Given the description of an element on the screen output the (x, y) to click on. 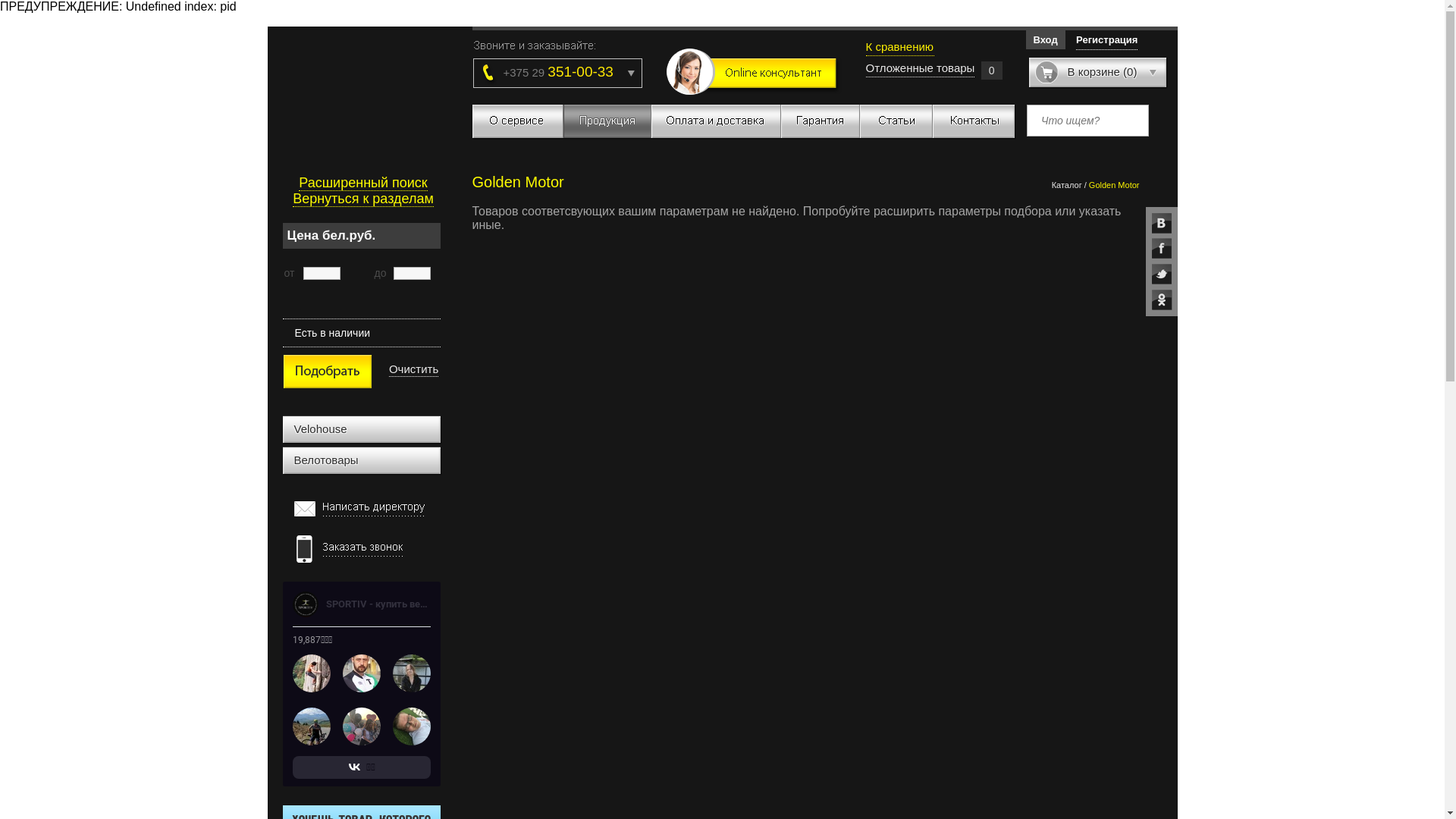
podbor Element type: text (326, 371)
Velohouse Element type: text (361, 429)
